Given the description of an element on the screen output the (x, y) to click on. 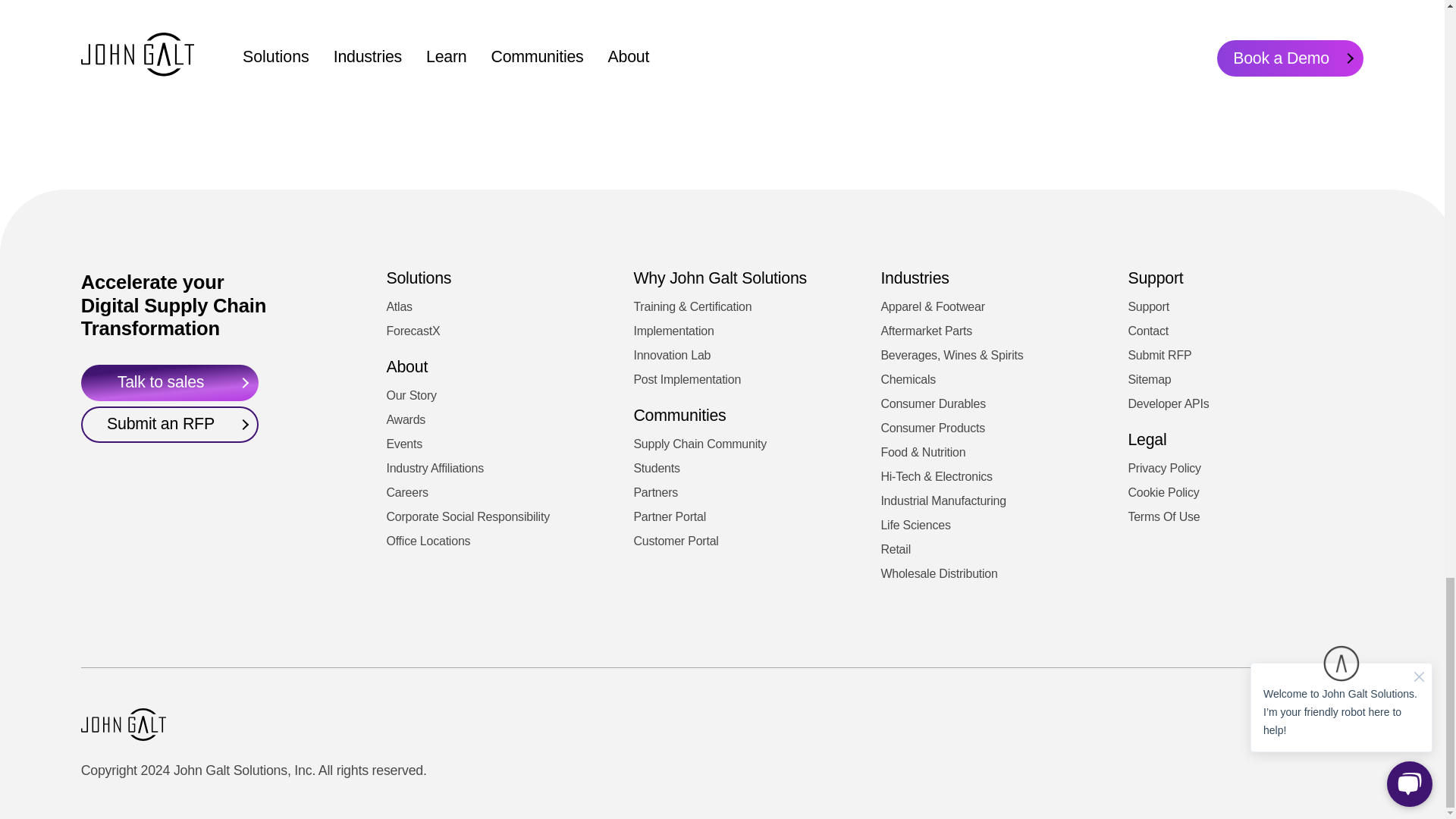
John Galt (123, 725)
